Given the description of an element on the screen output the (x, y) to click on. 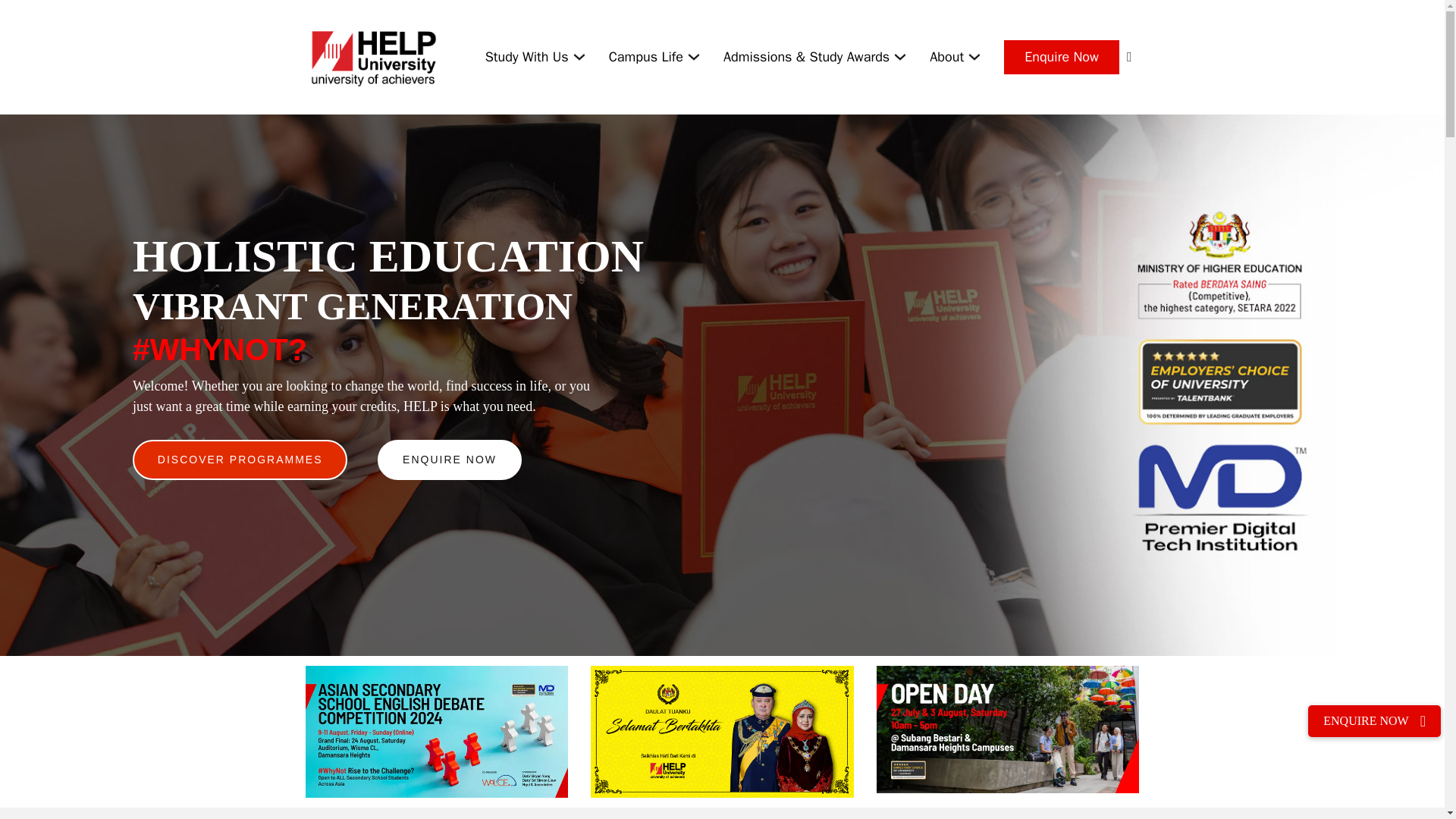
About (946, 56)
ENQUIRE NOW (449, 459)
Enquire Now (1061, 57)
Study With Us (526, 56)
DISCOVER PROGRAMMES (239, 459)
Campus Life (645, 56)
